Given the description of an element on the screen output the (x, y) to click on. 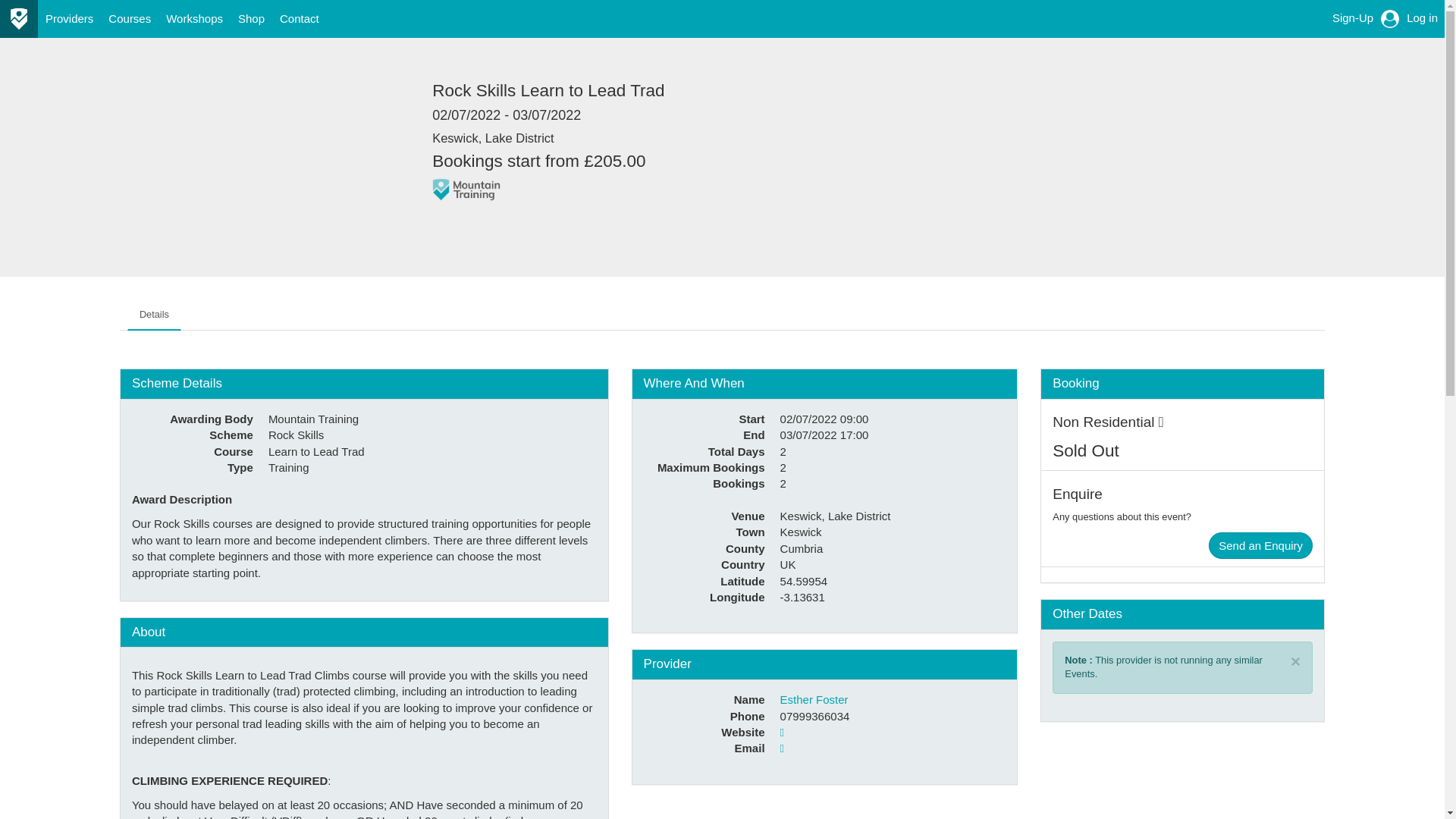
Contact (299, 18)
Providers (68, 18)
Shop (251, 18)
Workshops (194, 18)
Share via Email (535, 223)
Share on LinkedIn (504, 223)
Courses (129, 18)
Share on Facebook (443, 223)
Mountain Training (466, 189)
Send an Enquiry (1260, 545)
